Given the description of an element on the screen output the (x, y) to click on. 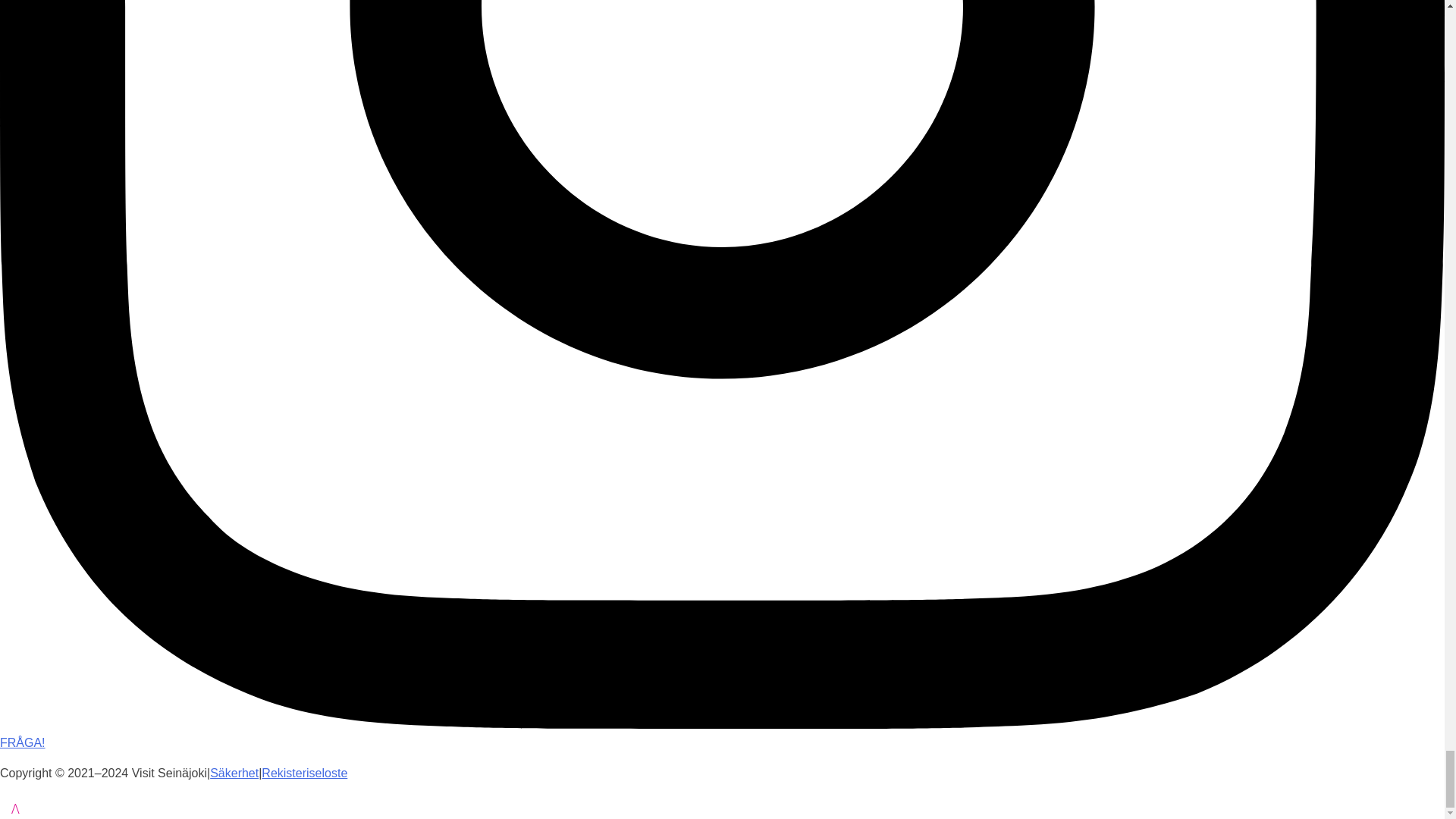
Valakia Interactive (37, 809)
